Given the description of an element on the screen output the (x, y) to click on. 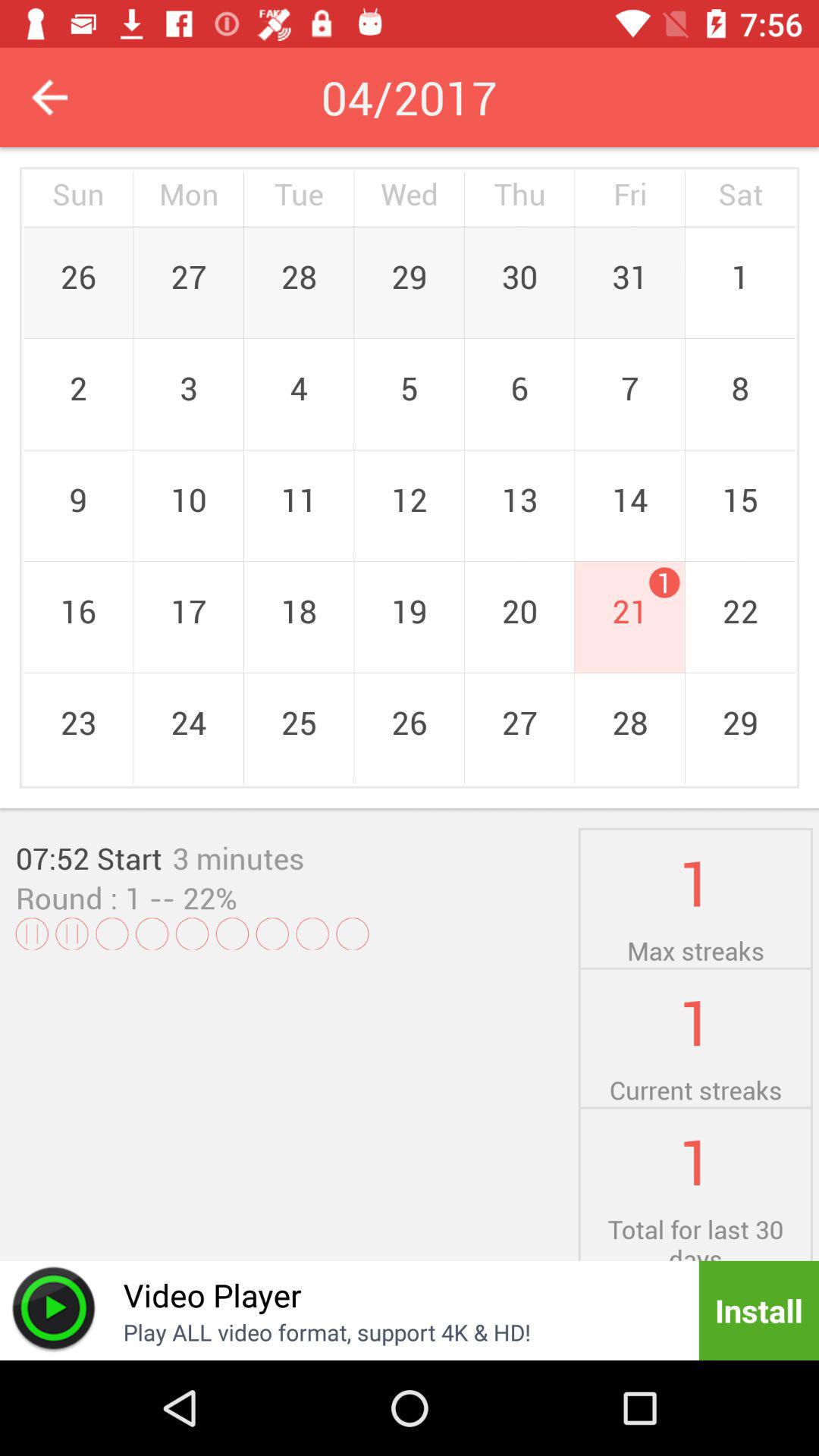
press the item to the left of 3 minutes icon (88, 858)
